Given the description of an element on the screen output the (x, y) to click on. 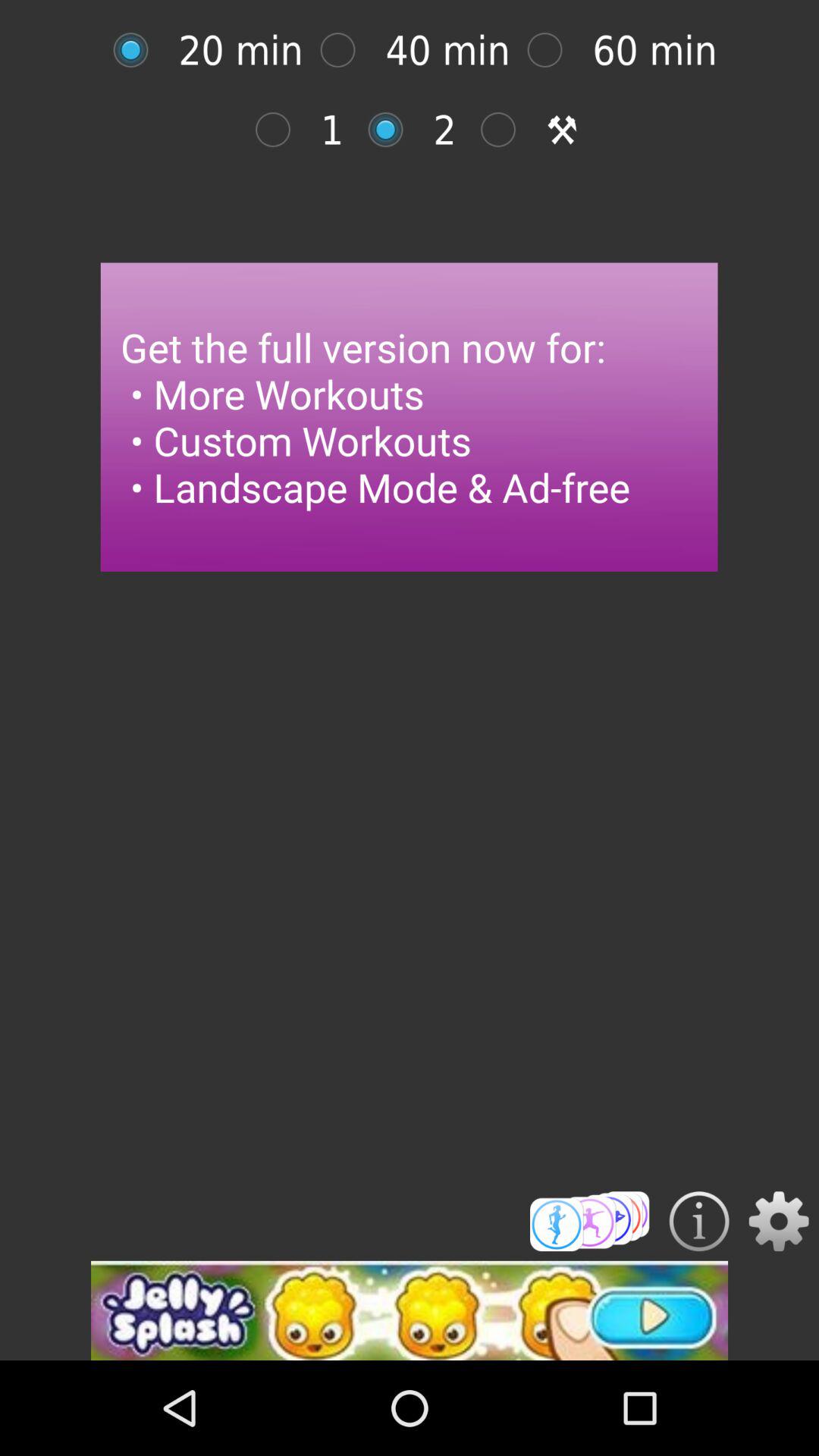
icon the button (699, 1221)
